Given the description of an element on the screen output the (x, y) to click on. 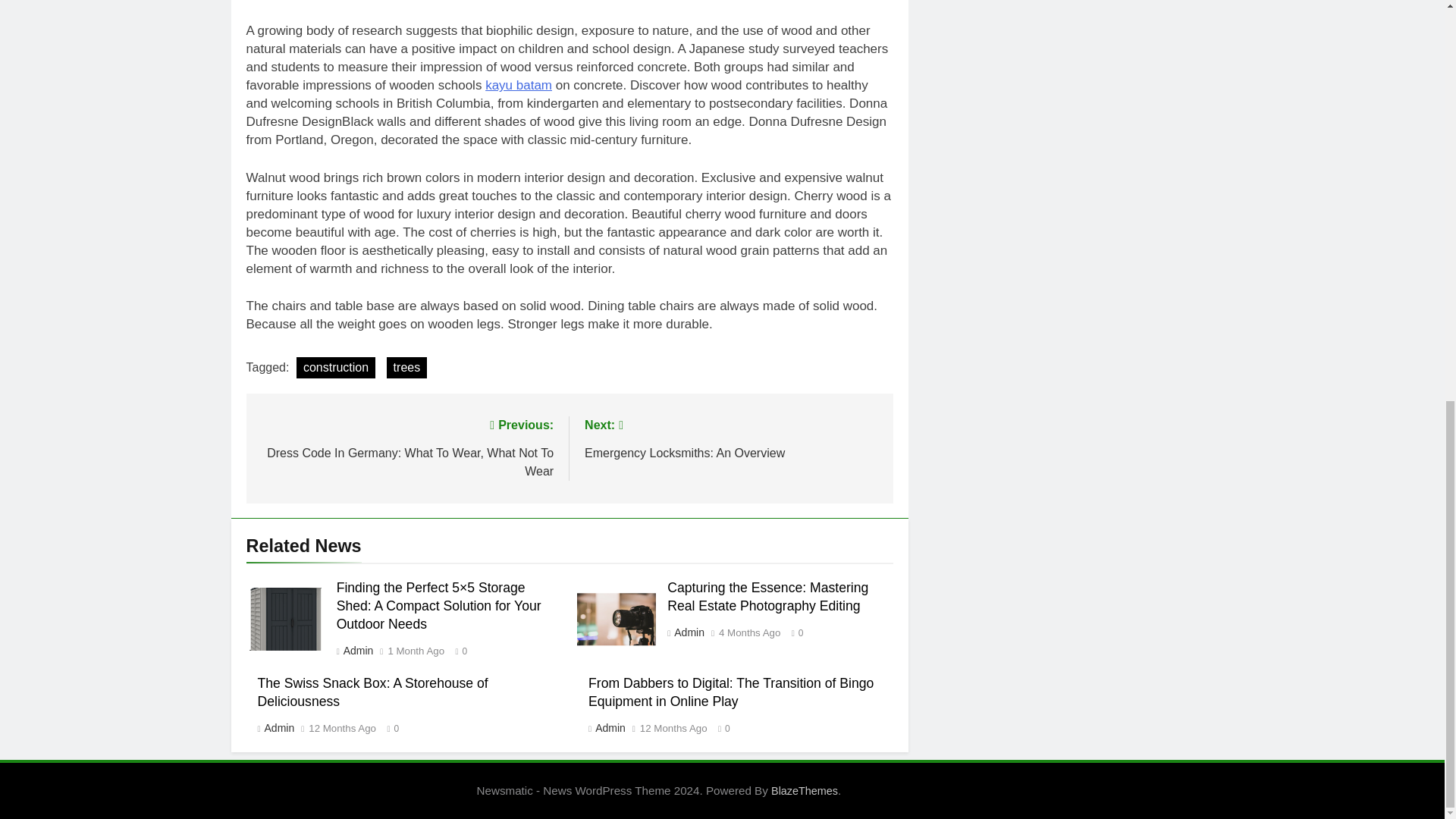
kayu batam (517, 84)
construction (336, 367)
trees (407, 367)
